Given the description of an element on the screen output the (x, y) to click on. 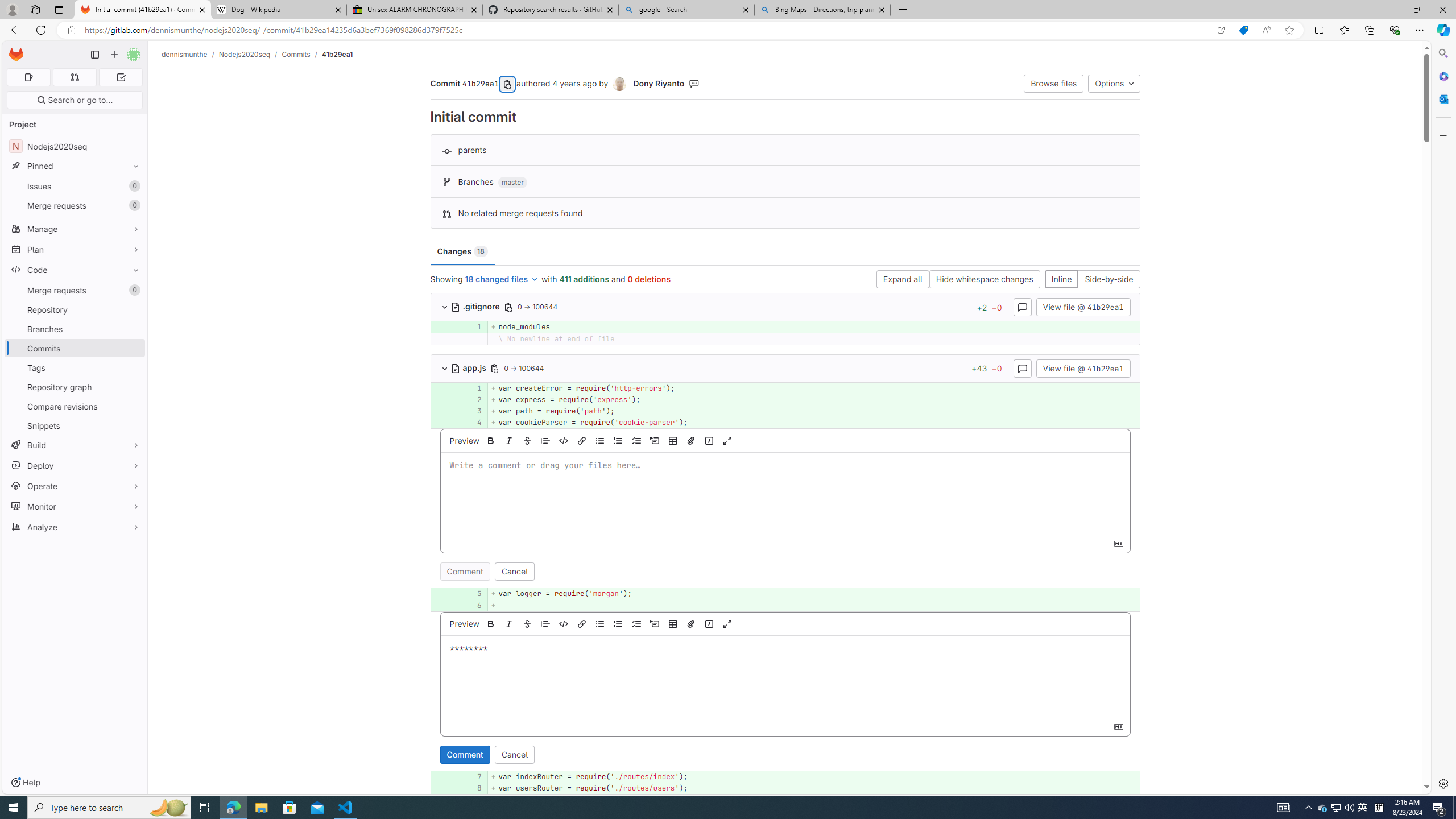
3 (472, 410)
Pin Branches (132, 328)
Class: s16 chevron-down (444, 368)
5 (471, 594)
Class: div-dropzone-icon s24 (783, 676)
Copied (507, 83)
Dony Riyanto's avatar (619, 83)
Homepage (16, 54)
+ var usersRouter = require('./routes/users');  (813, 788)
